Given the description of an element on the screen output the (x, y) to click on. 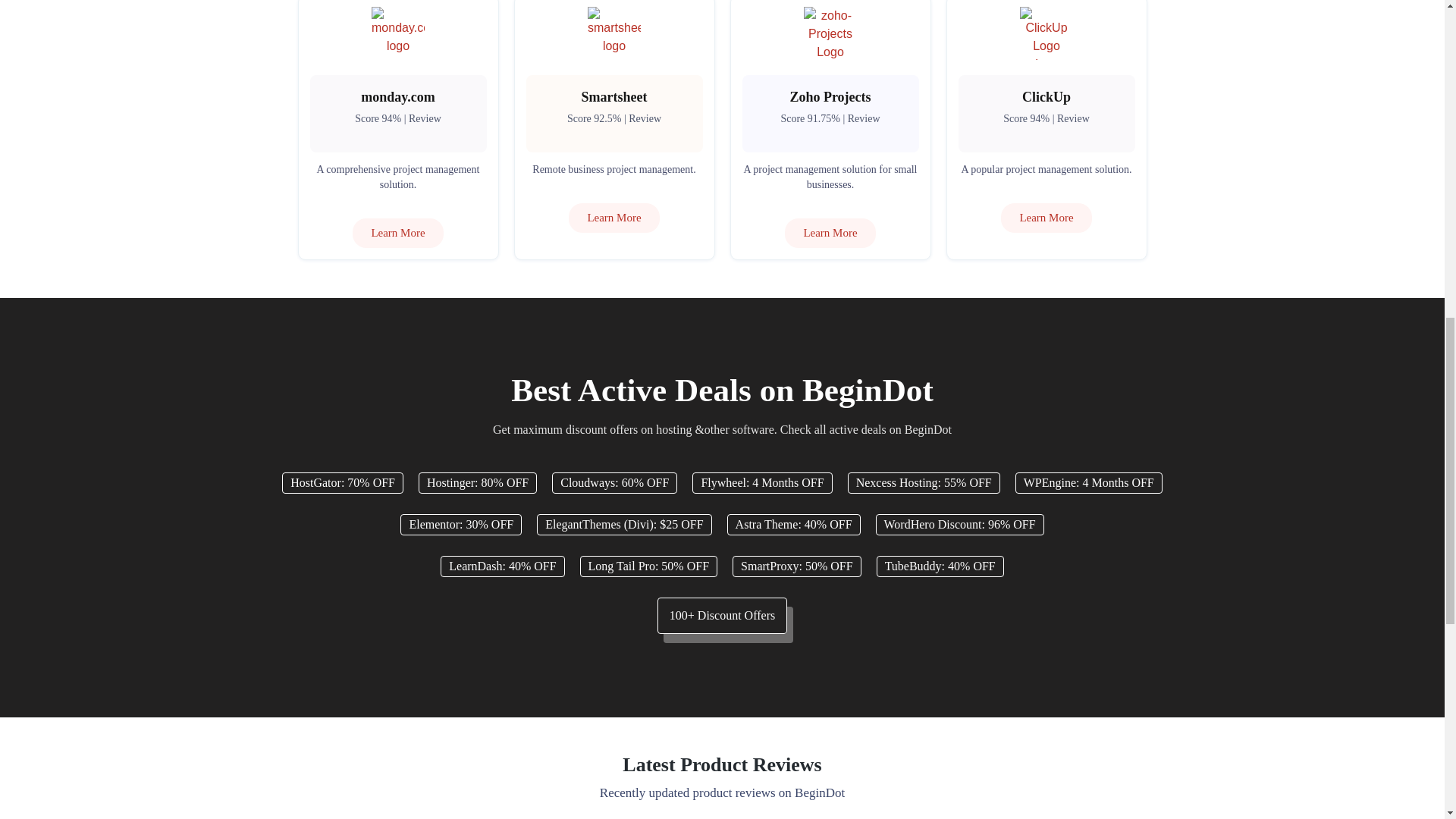
monday.com logo (398, 32)
smartsheet logo (614, 32)
ClickUp Logo Icon (1046, 32)
zoho-Projects Logo (830, 32)
